Given the description of an element on the screen output the (x, y) to click on. 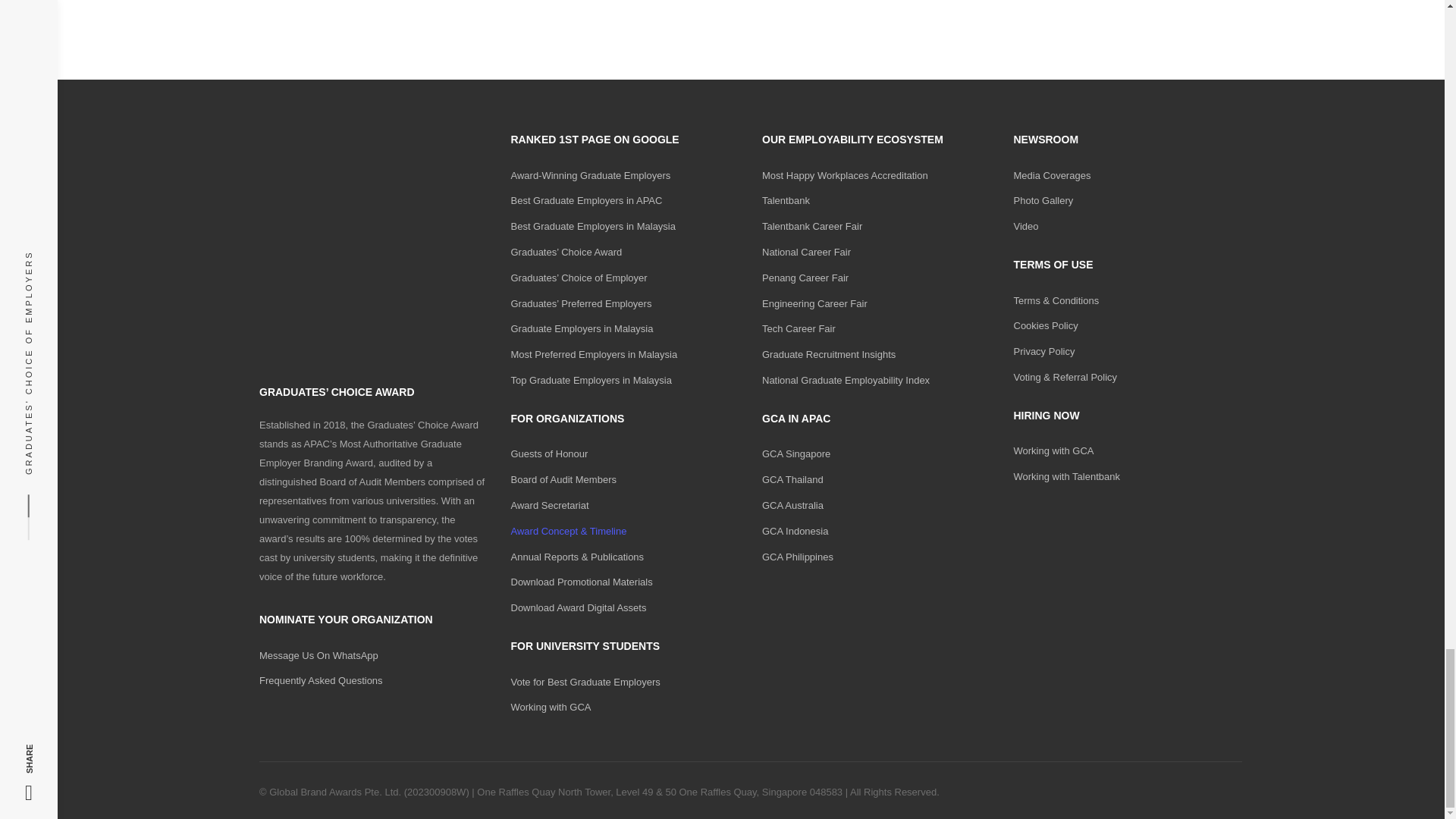
Message Us On WhatsApp (318, 655)
Frequently Asked Questions (320, 680)
Award-Winning Graduate Employers (591, 174)
Best Graduate Employers in Malaysia (593, 225)
Best Graduate Employers in APAC (586, 200)
